Given the description of an element on the screen output the (x, y) to click on. 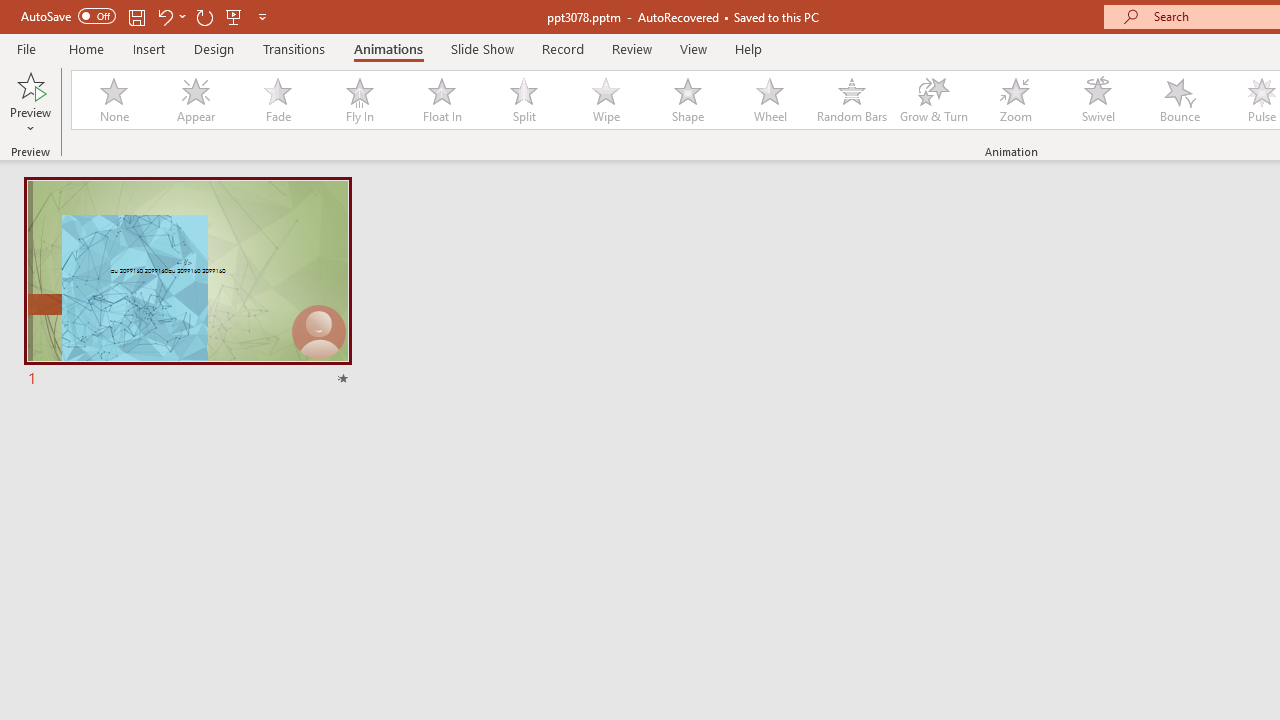
Wheel (770, 100)
